Given the description of an element on the screen output the (x, y) to click on. 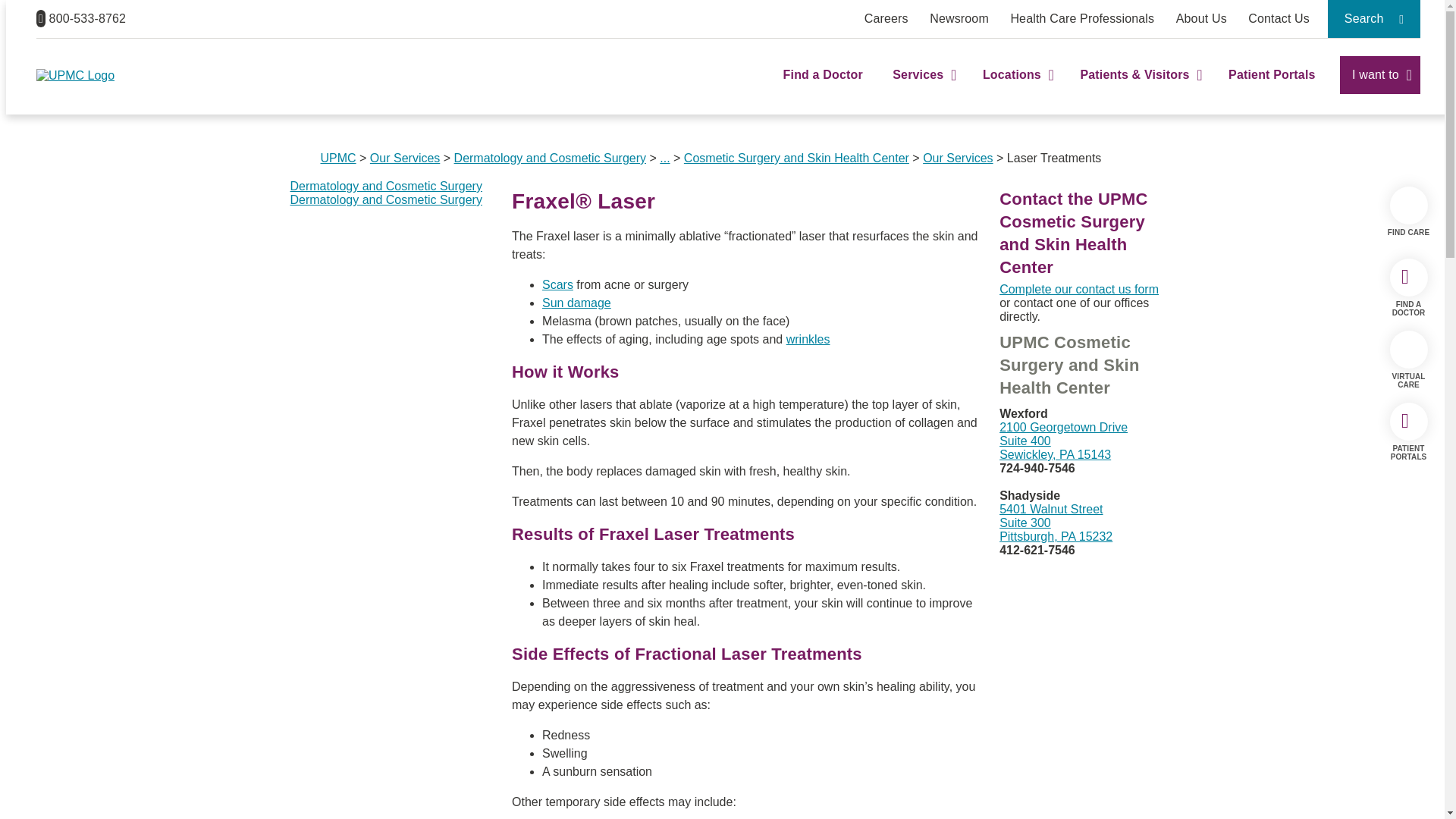
Search (1374, 18)
Contact Us (1277, 18)
About Us (1201, 18)
Contact UPMC (1277, 18)
Services (922, 88)
Newsroom (959, 18)
800-533-8762 (80, 18)
Health Care Professionals (1082, 18)
Careers (886, 18)
UPMC (75, 74)
Learn more about careers and job openings at UPMC. (886, 18)
Find a Doctor (823, 88)
